Given the description of an element on the screen output the (x, y) to click on. 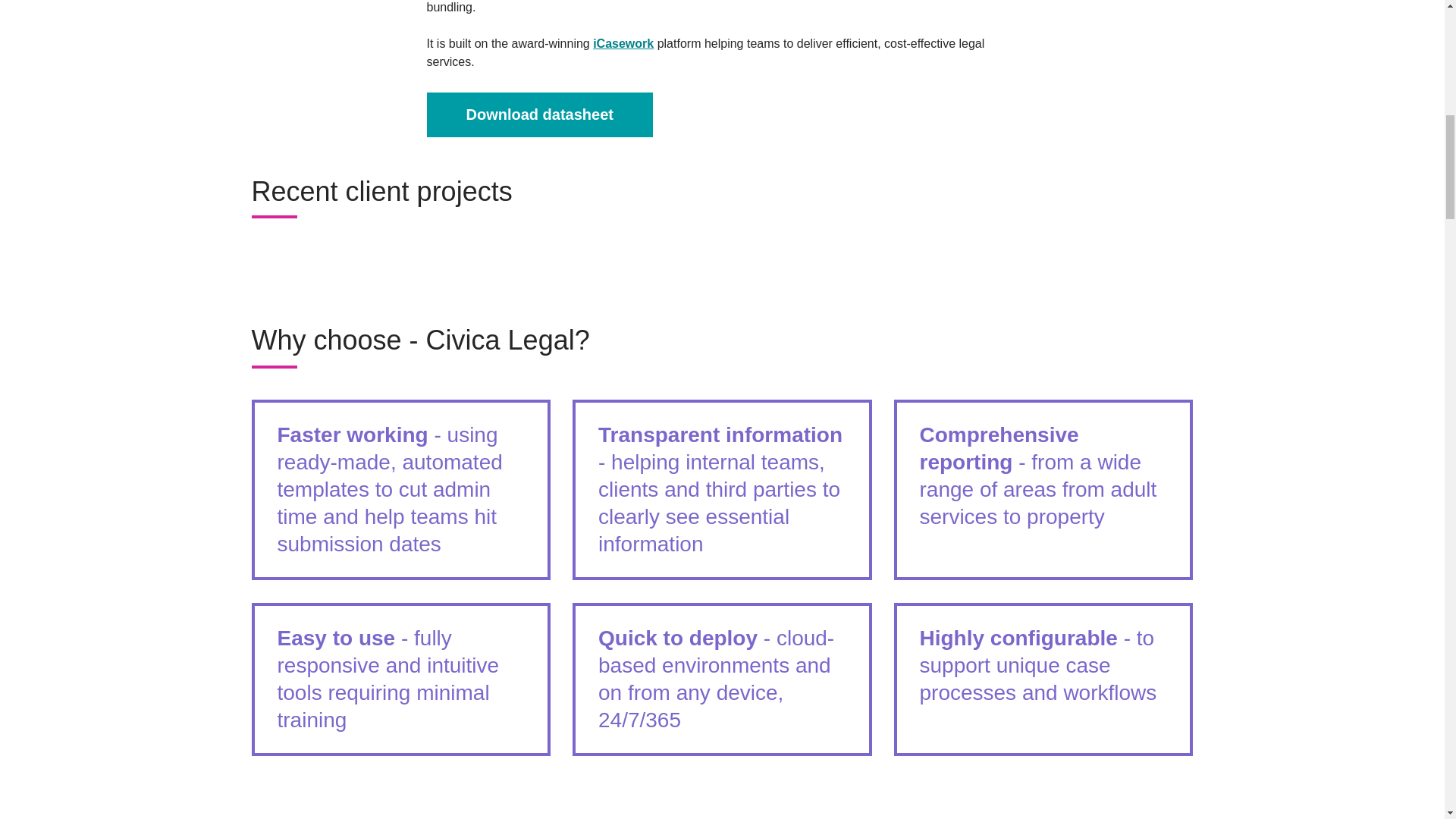
Download datasheet (539, 114)
Opens in a new window (539, 114)
iCasework (622, 42)
